Given the description of an element on the screen output the (x, y) to click on. 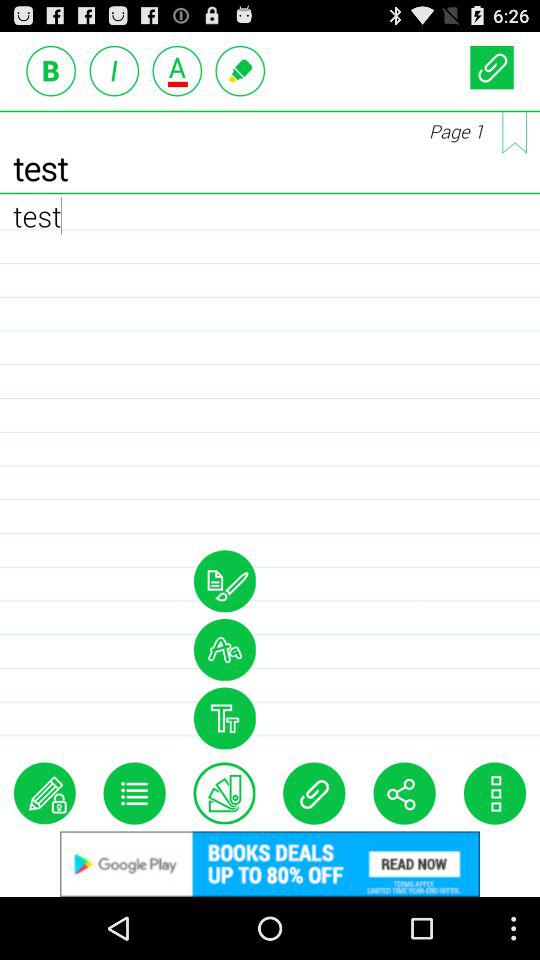
letter option (177, 70)
